Given the description of an element on the screen output the (x, y) to click on. 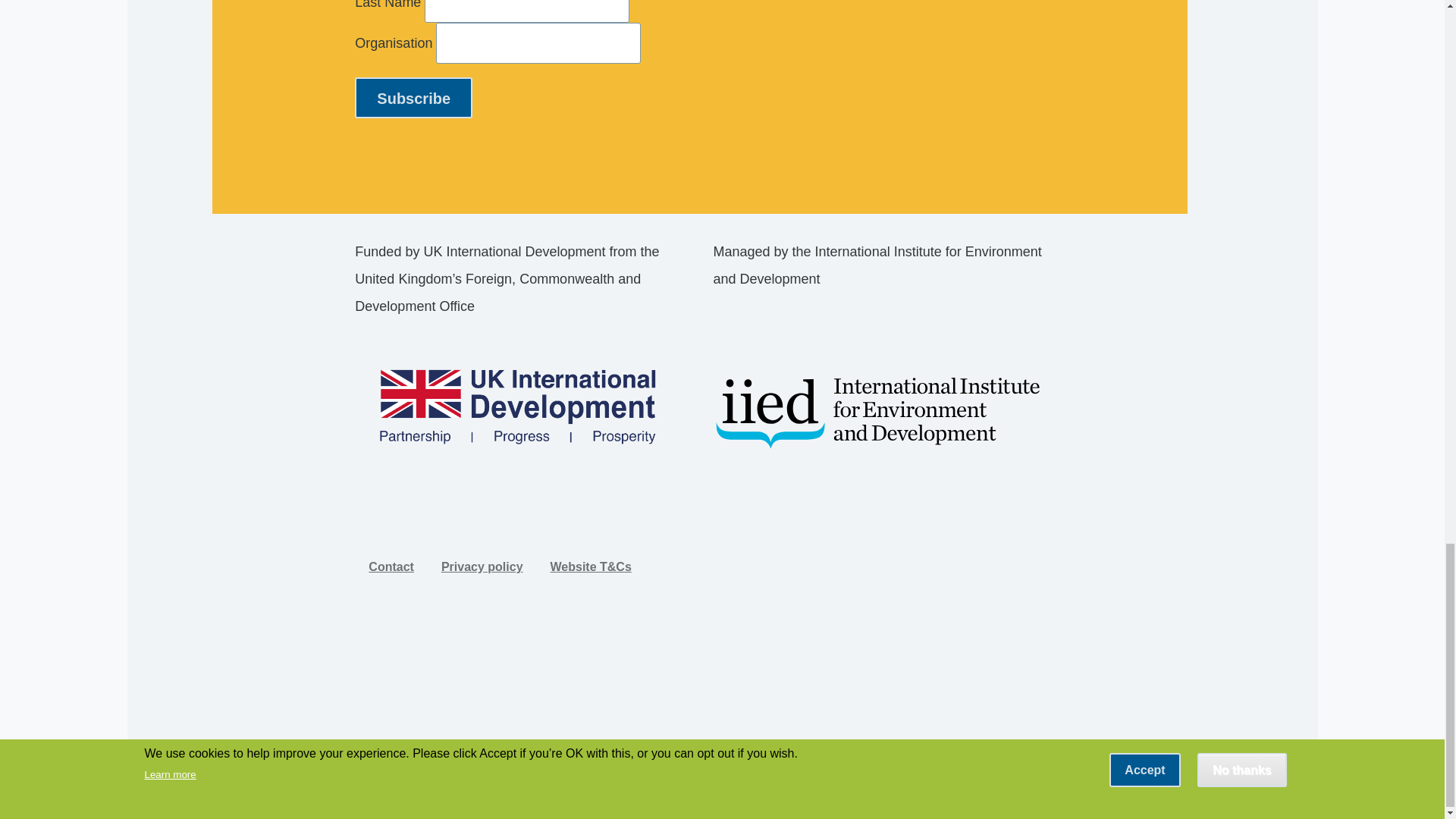
Contact (390, 566)
Privacy policy (481, 566)
Subscribe (413, 96)
Subscribe (413, 96)
